Given the description of an element on the screen output the (x, y) to click on. 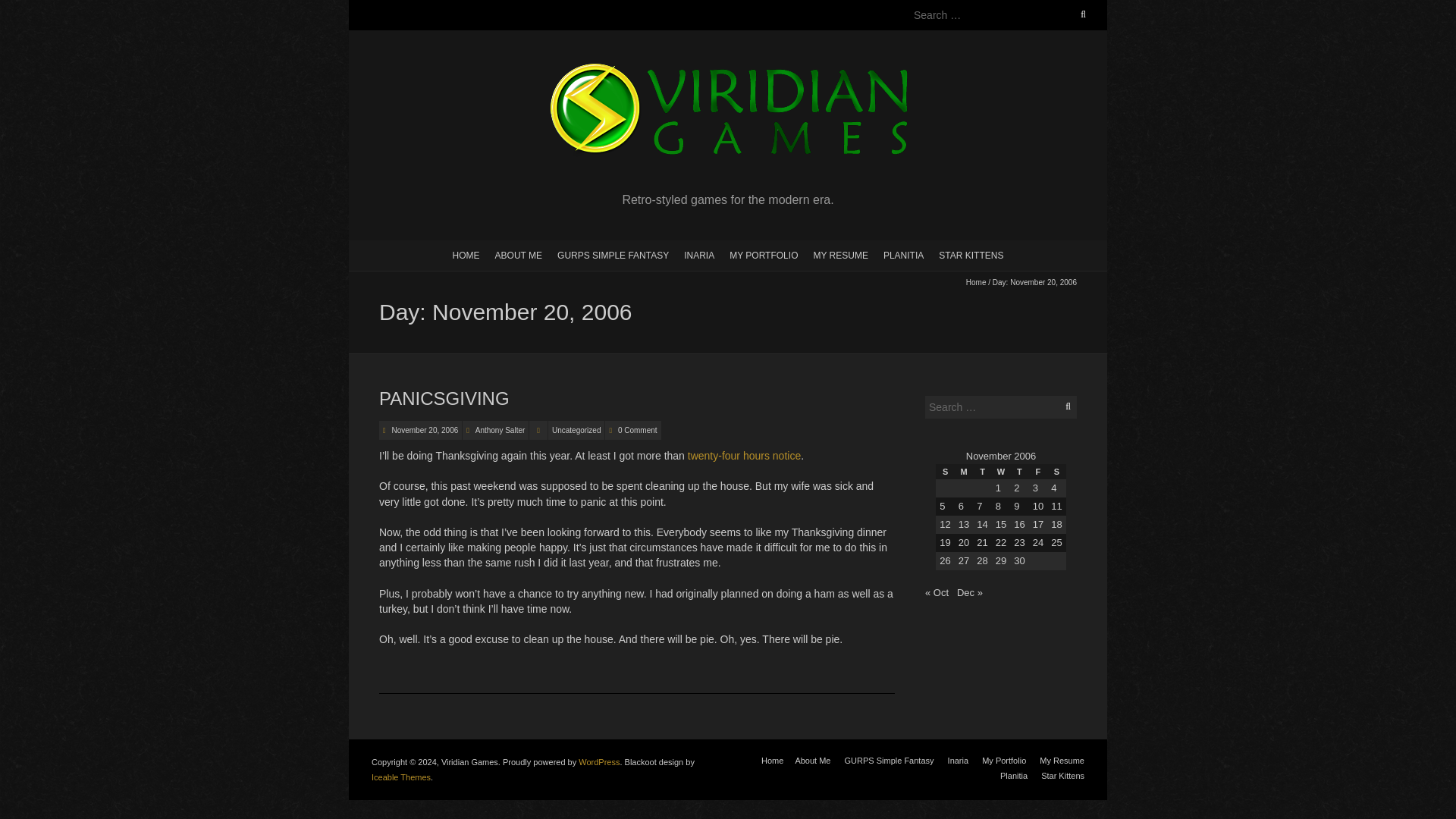
Sunday (944, 471)
Anthony Salter (500, 429)
Category (538, 429)
PANICSGIVING (443, 398)
INARIA (699, 254)
About Me (811, 759)
20 (963, 542)
Thursday (1018, 471)
MY RESUME (840, 254)
Saturday (1055, 471)
Monday (963, 471)
Panicsgiving (443, 398)
View all posts by Anthony Salter (500, 429)
Home (976, 282)
MY PORTFOLIO (763, 254)
